Given the description of an element on the screen output the (x, y) to click on. 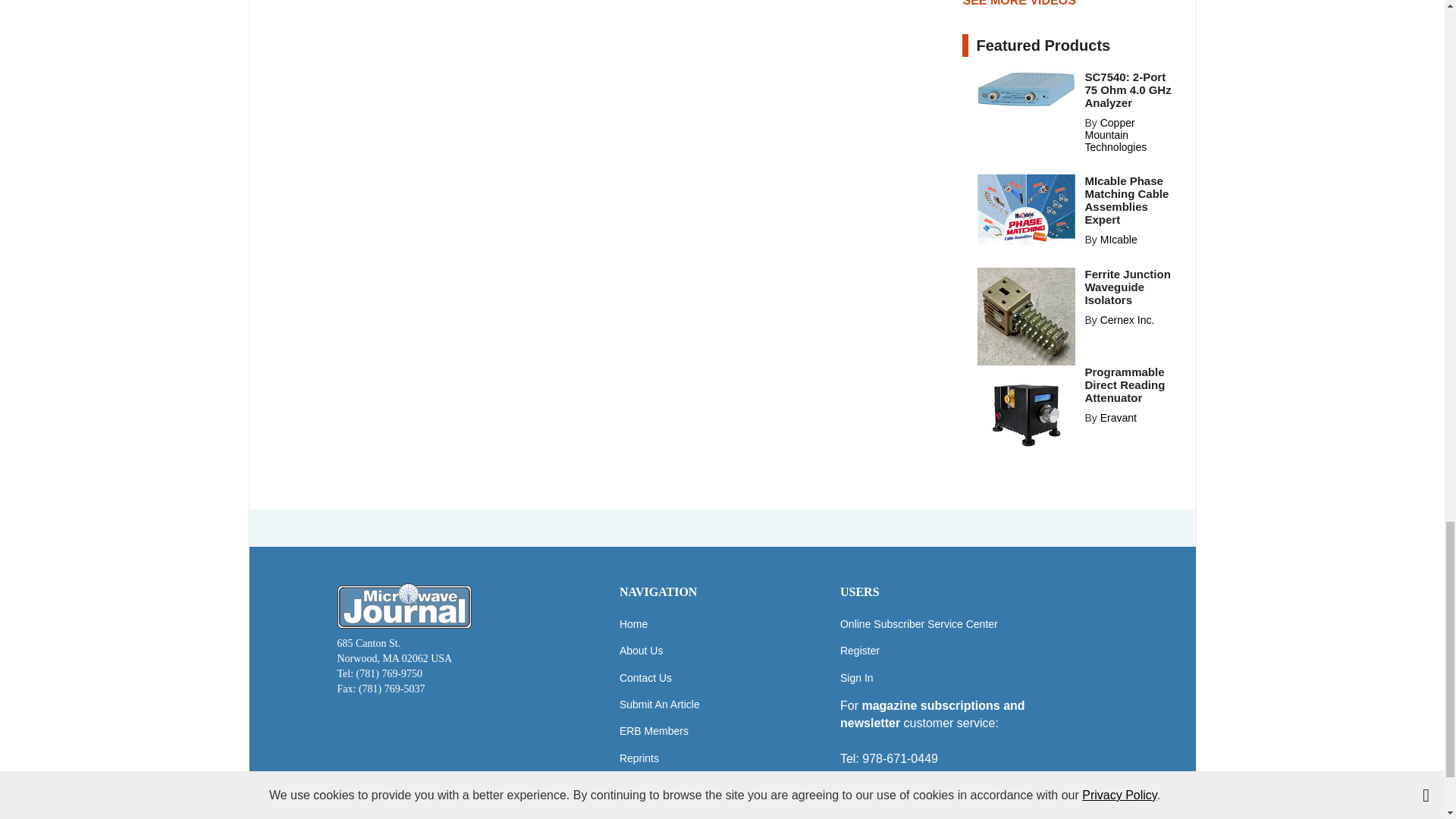
Eravant.jpg (1025, 414)
MIcable Phase Matching Cable Assemblies Expert.jpg (1025, 209)
SC7540 Image -left.jpg (1025, 88)
CJI26400416-01 Pict 200x200.jpg (1025, 316)
